Given the description of an element on the screen output the (x, y) to click on. 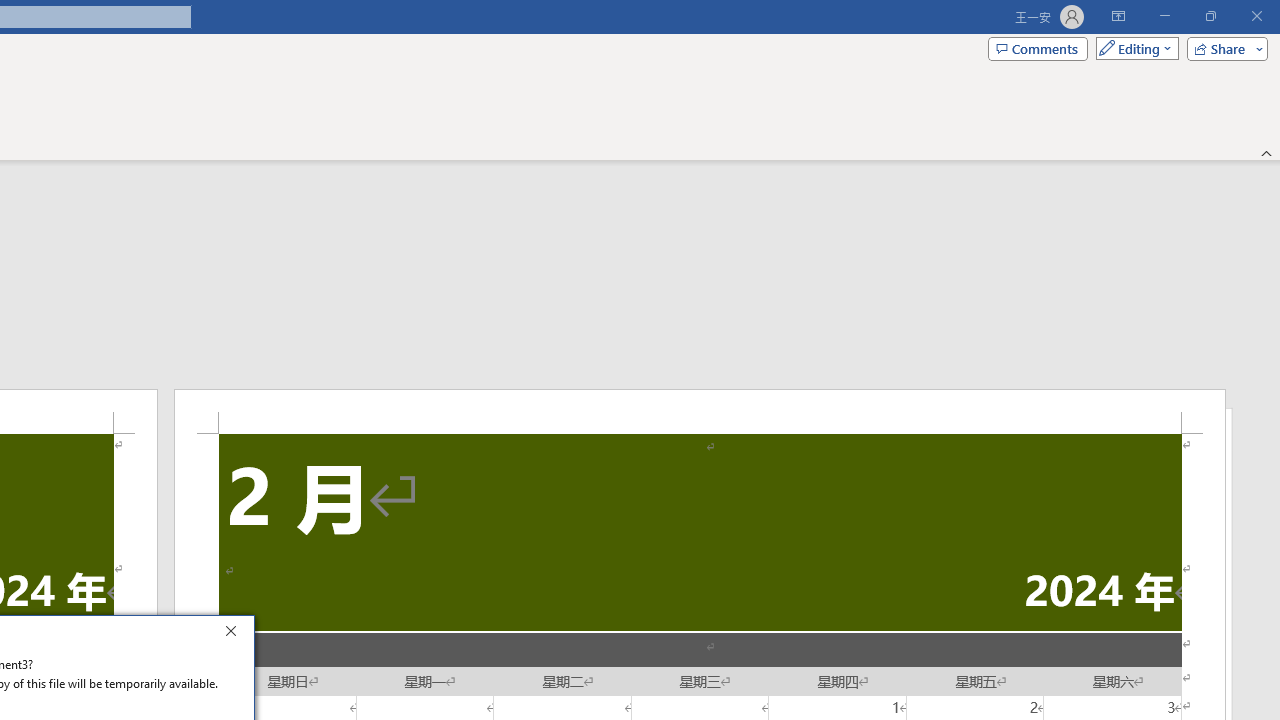
Ribbon Display Options (1118, 16)
Collapse the Ribbon (1267, 152)
Mode (1133, 47)
Header -Section 2- (700, 411)
